Given the description of an element on the screen output the (x, y) to click on. 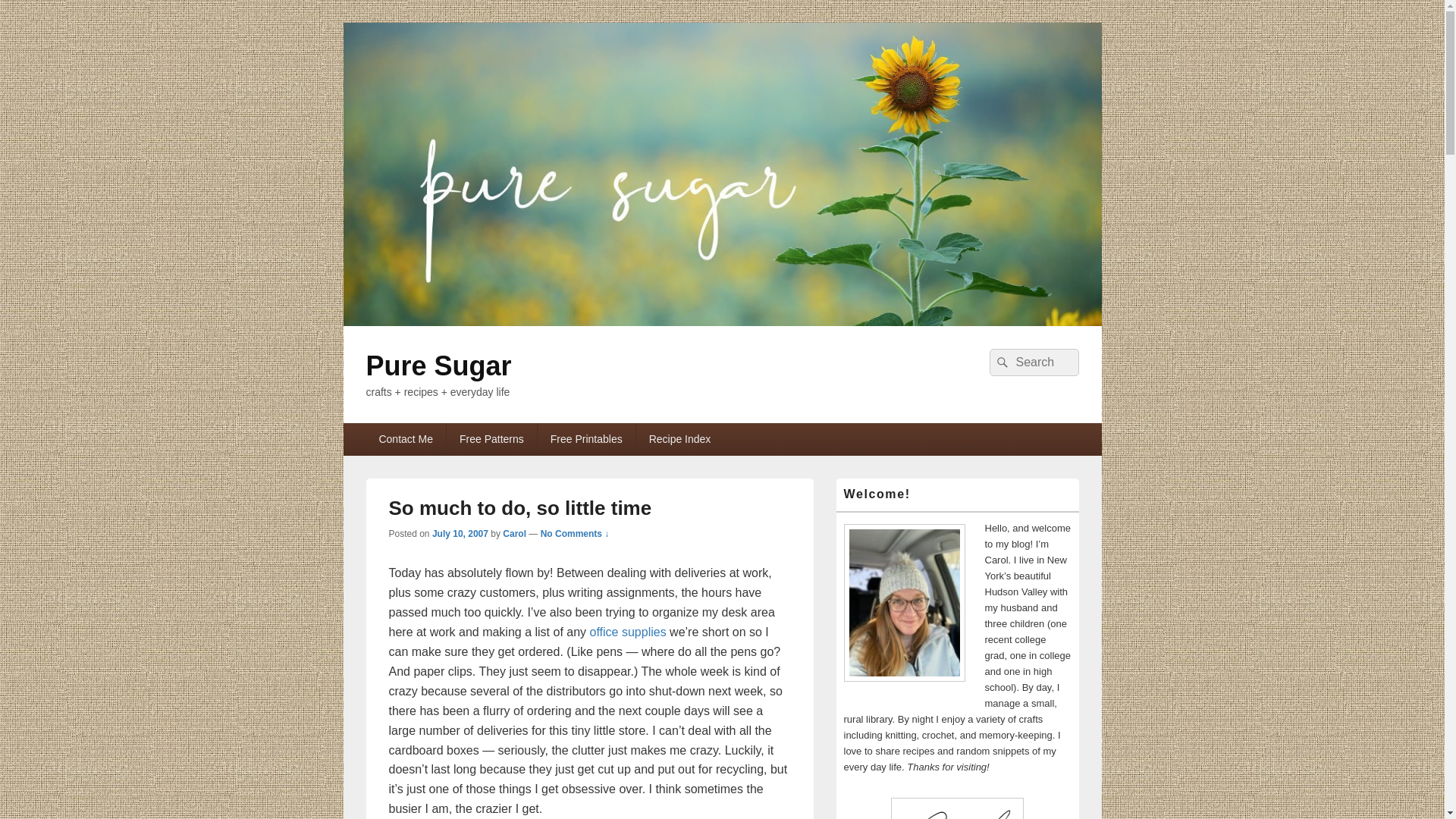
Free Patterns (491, 439)
Carol (513, 533)
4:01 pm (459, 533)
Free Printables (585, 439)
View all posts by Carol (513, 533)
July 10, 2007 (459, 533)
Recipe Index (679, 439)
Search (999, 361)
office supplies (627, 631)
Contact Me (405, 439)
Pure Sugar (438, 365)
Search for: (1033, 361)
Pure Sugar (721, 321)
